Given the description of an element on the screen output the (x, y) to click on. 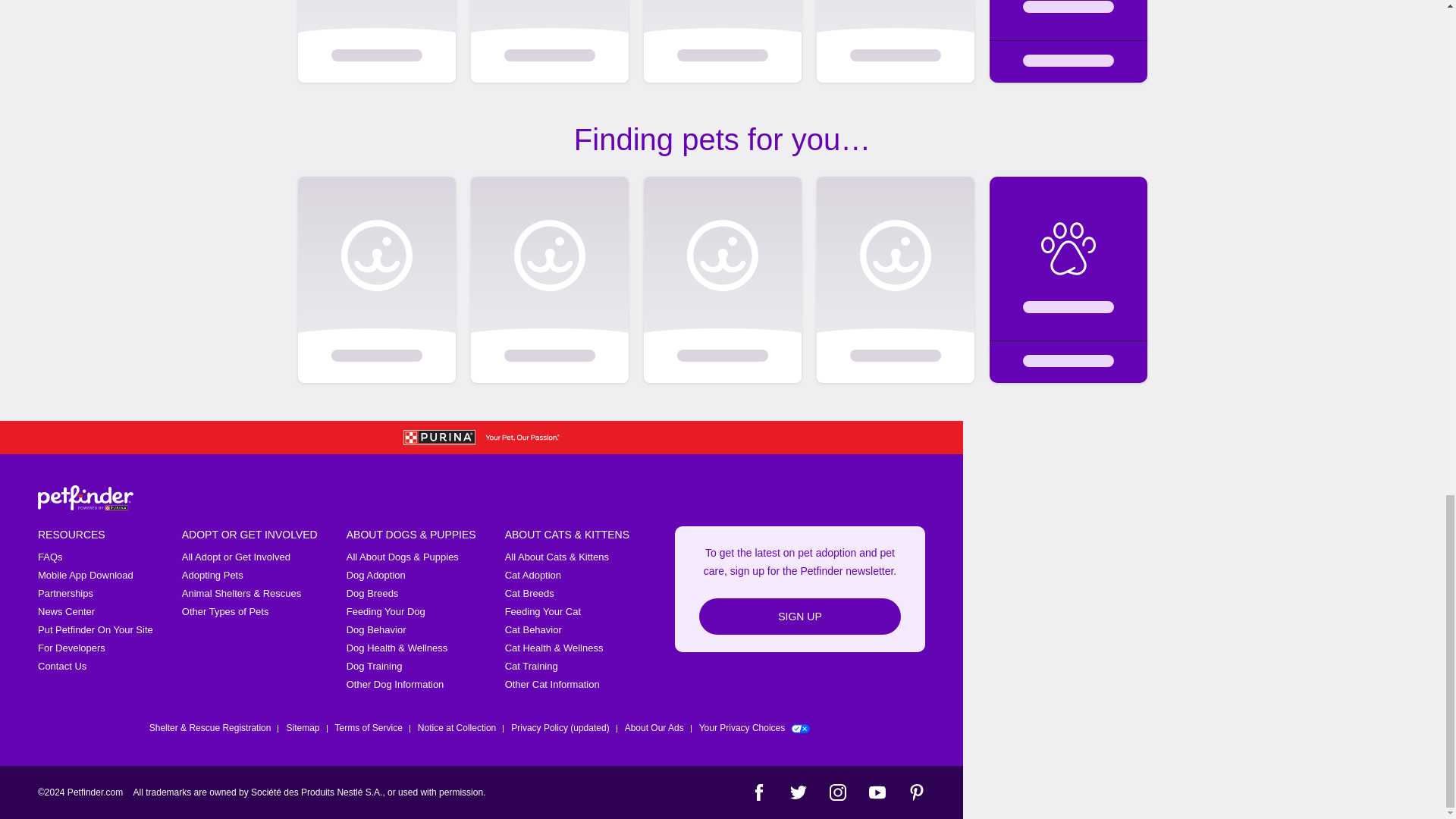
YouTube (877, 791)
Facebook (759, 791)
Instagram (837, 791)
Petfinder Logo (85, 497)
Twitter (798, 791)
